Given the description of an element on the screen output the (x, y) to click on. 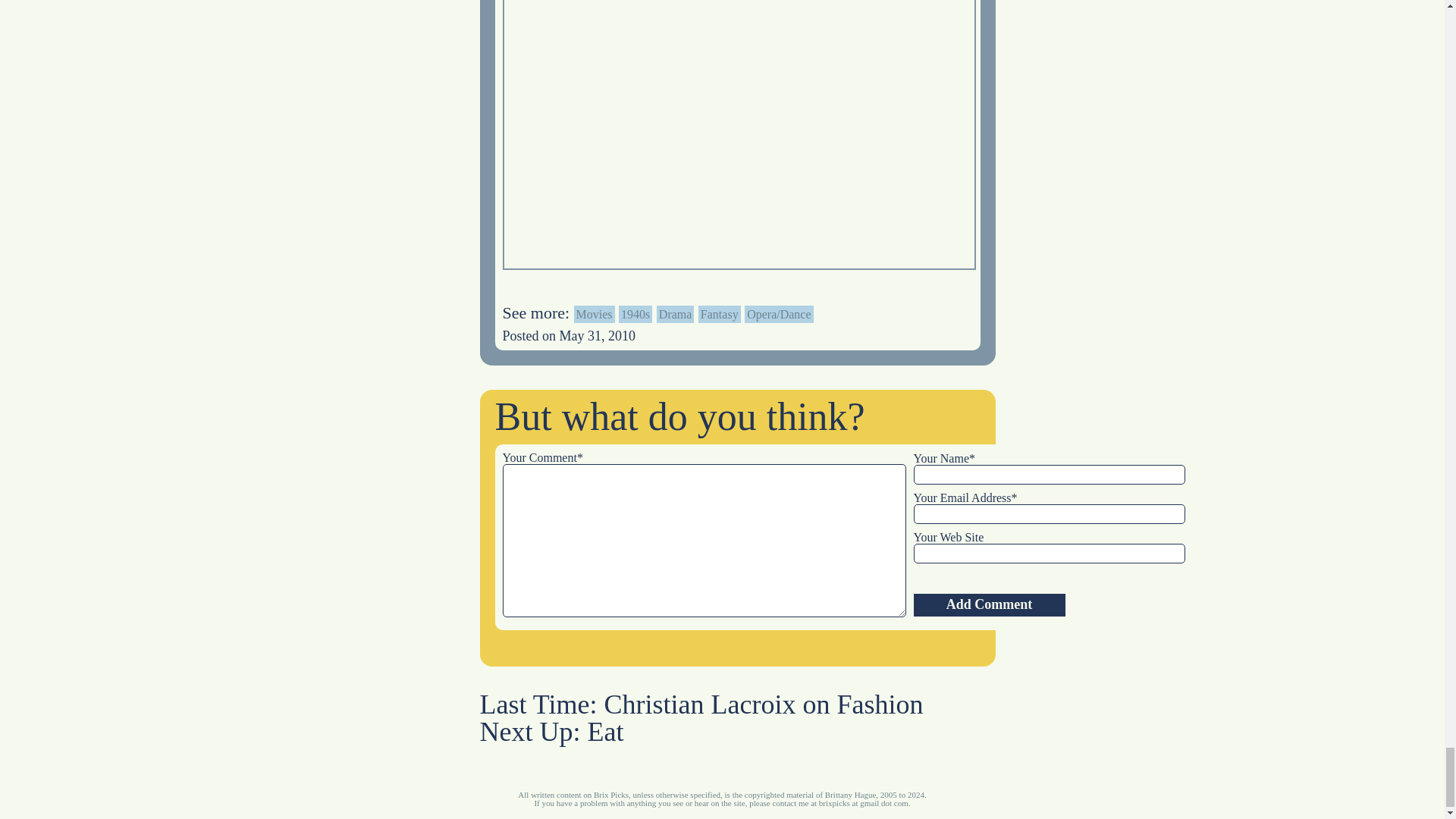
Add Comment (988, 604)
